Given the description of an element on the screen output the (x, y) to click on. 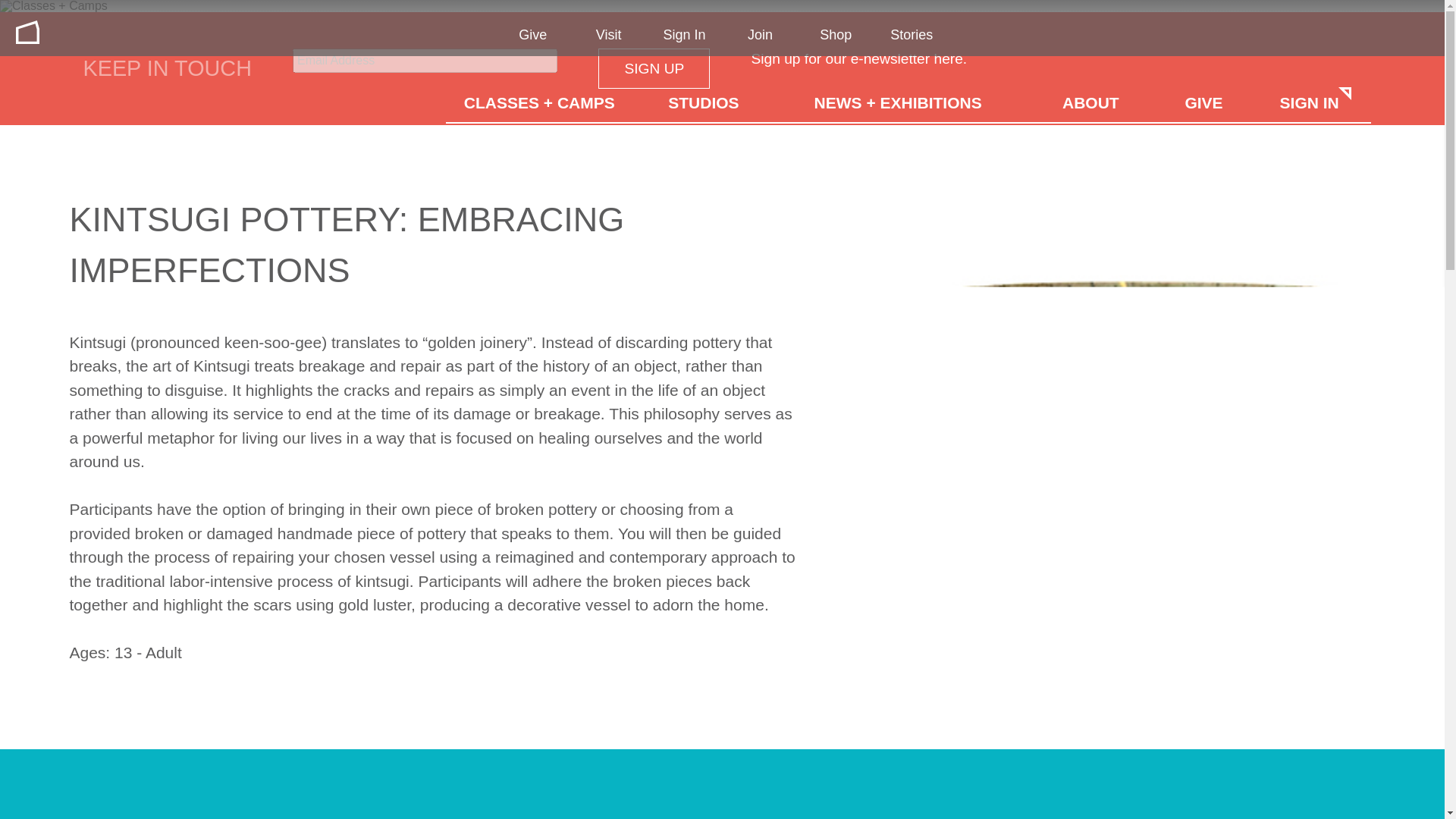
Sign Up (654, 68)
Shop (835, 34)
Skip to main content (12, 12)
Sign In (684, 34)
Give (532, 34)
Stories (911, 34)
Visit (608, 34)
Join (760, 34)
STUDIOS (703, 101)
